Given the description of an element on the screen output the (x, y) to click on. 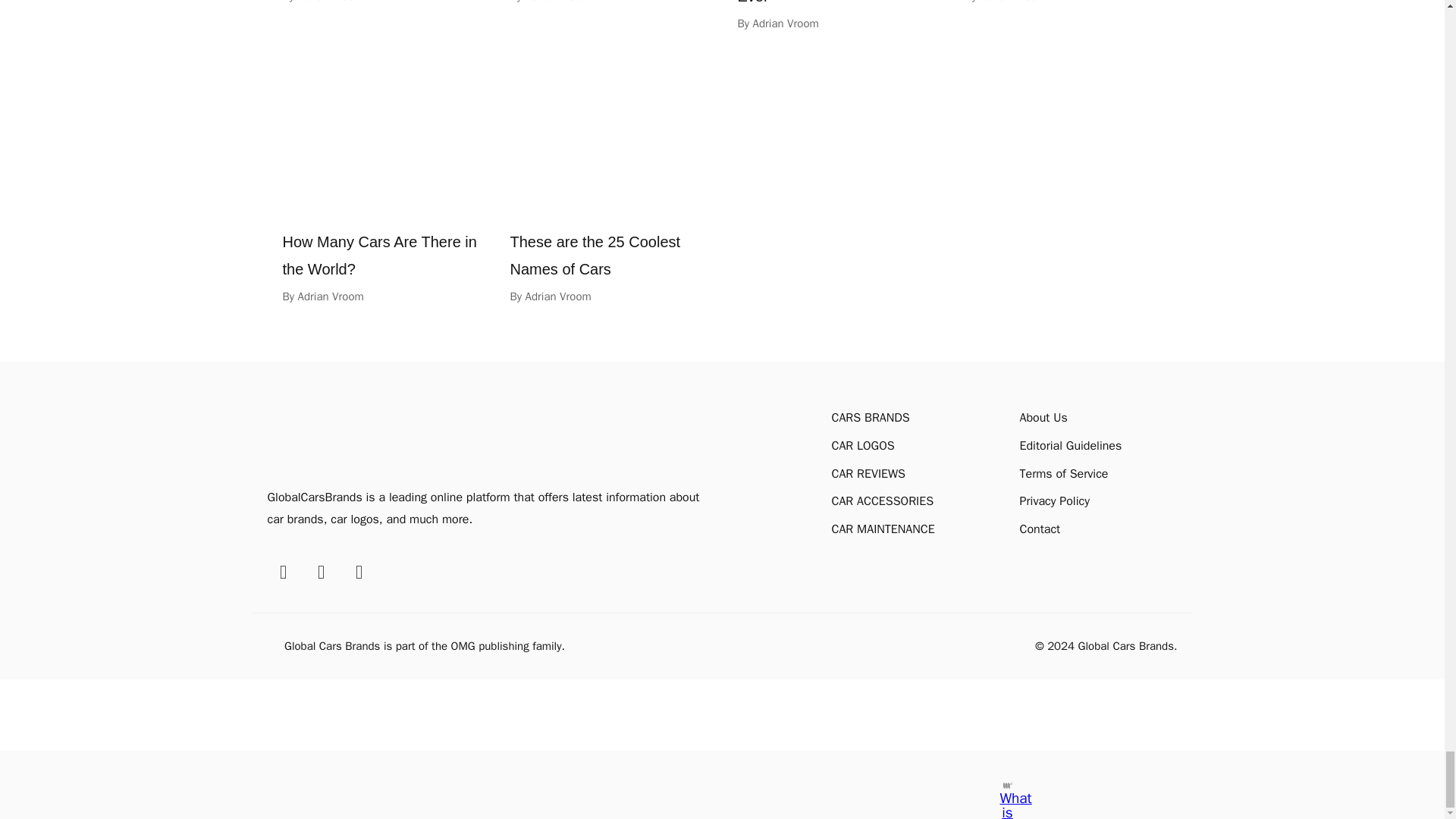
YouTube (358, 572)
Facebook (282, 572)
Instagram (319, 572)
